Given the description of an element on the screen output the (x, y) to click on. 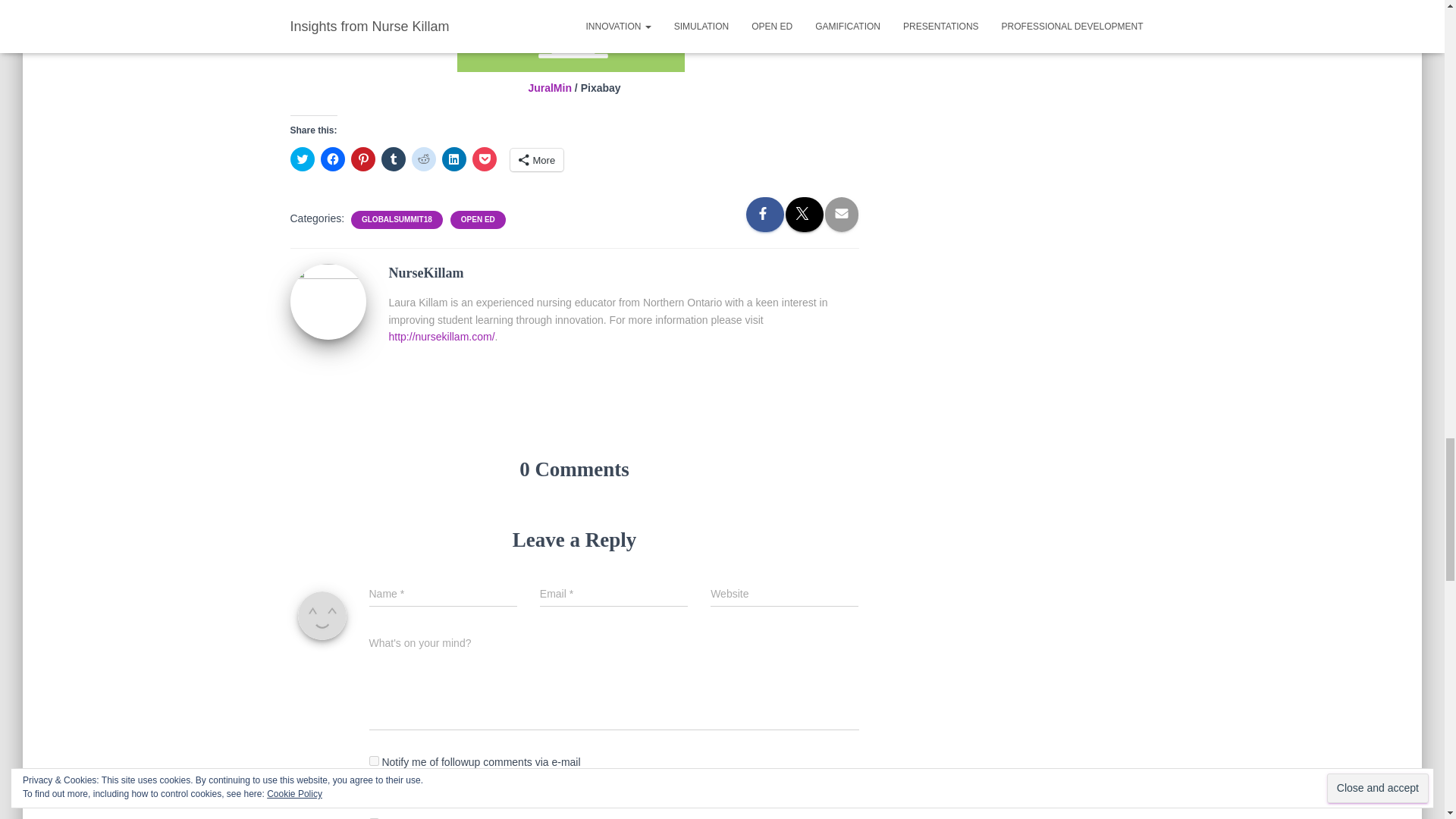
Click to share on Twitter (301, 159)
JuralMin (549, 87)
subscribe (373, 760)
Click to share on Pinterest (362, 159)
subscribe (373, 794)
Click to share on Tumblr (392, 159)
More (536, 159)
Click to share on Facebook (331, 159)
